Given the description of an element on the screen output the (x, y) to click on. 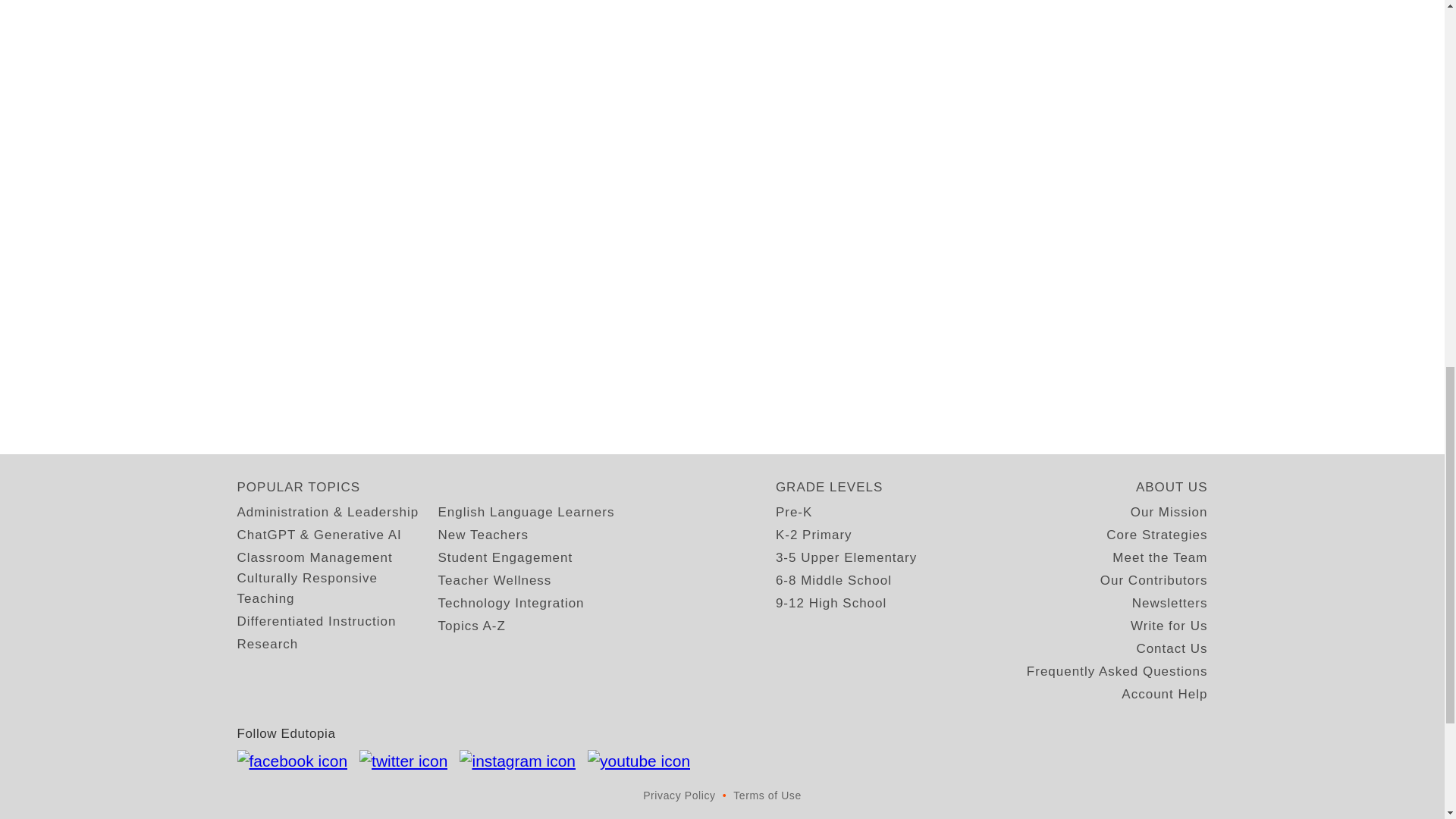
6-8 Middle School (833, 580)
Technology Integration (511, 602)
Student Engagement (505, 557)
New Teachers (483, 534)
Teacher Wellness (494, 580)
Topics A-Z (471, 625)
Differentiated Instruction (315, 620)
English Language Learners (526, 512)
Culturally Responsive Teaching (336, 588)
Classroom Management (313, 557)
